Given the description of an element on the screen output the (x, y) to click on. 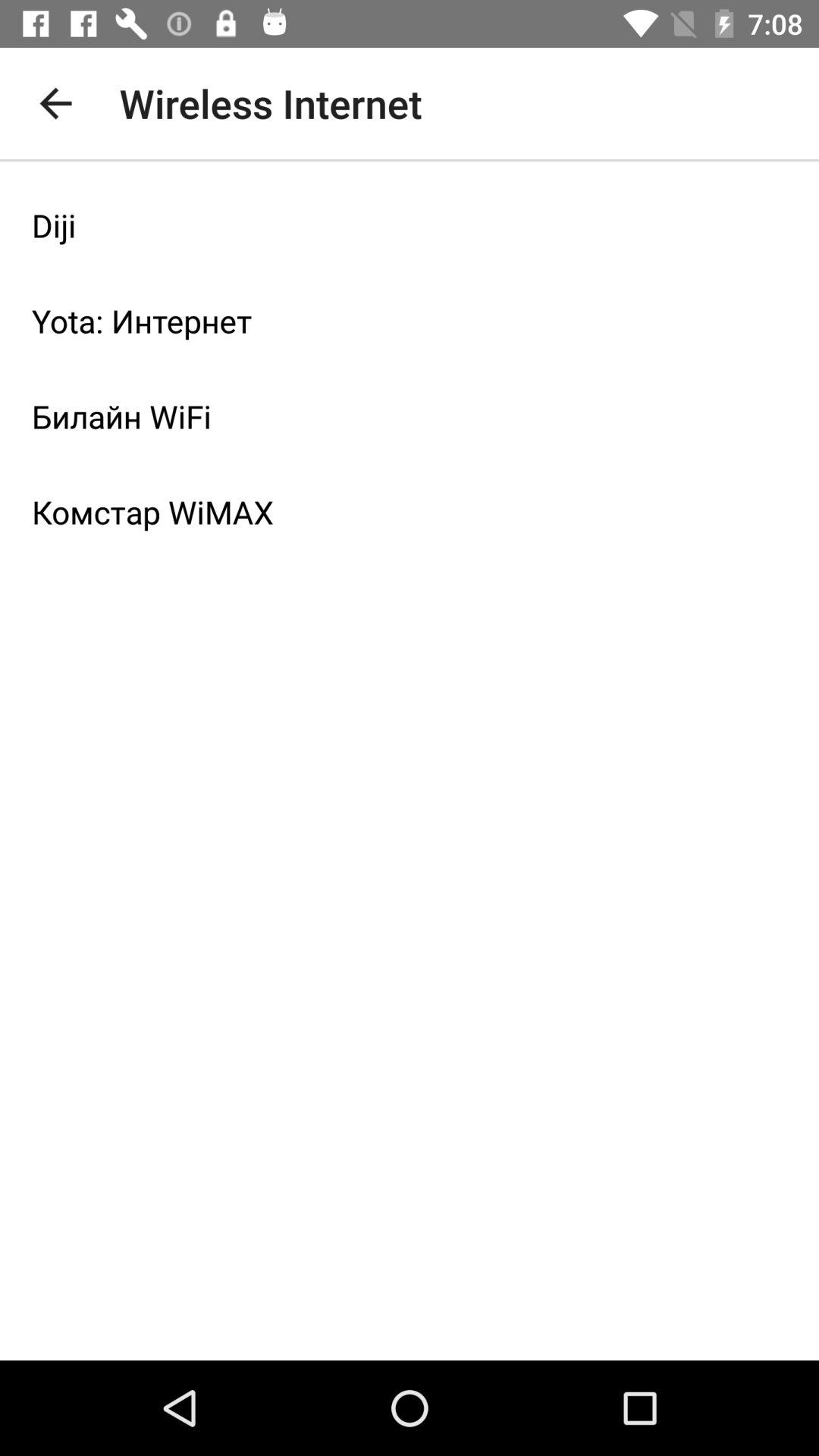
open the icon to the left of the wireless internet icon (55, 103)
